Given the description of an element on the screen output the (x, y) to click on. 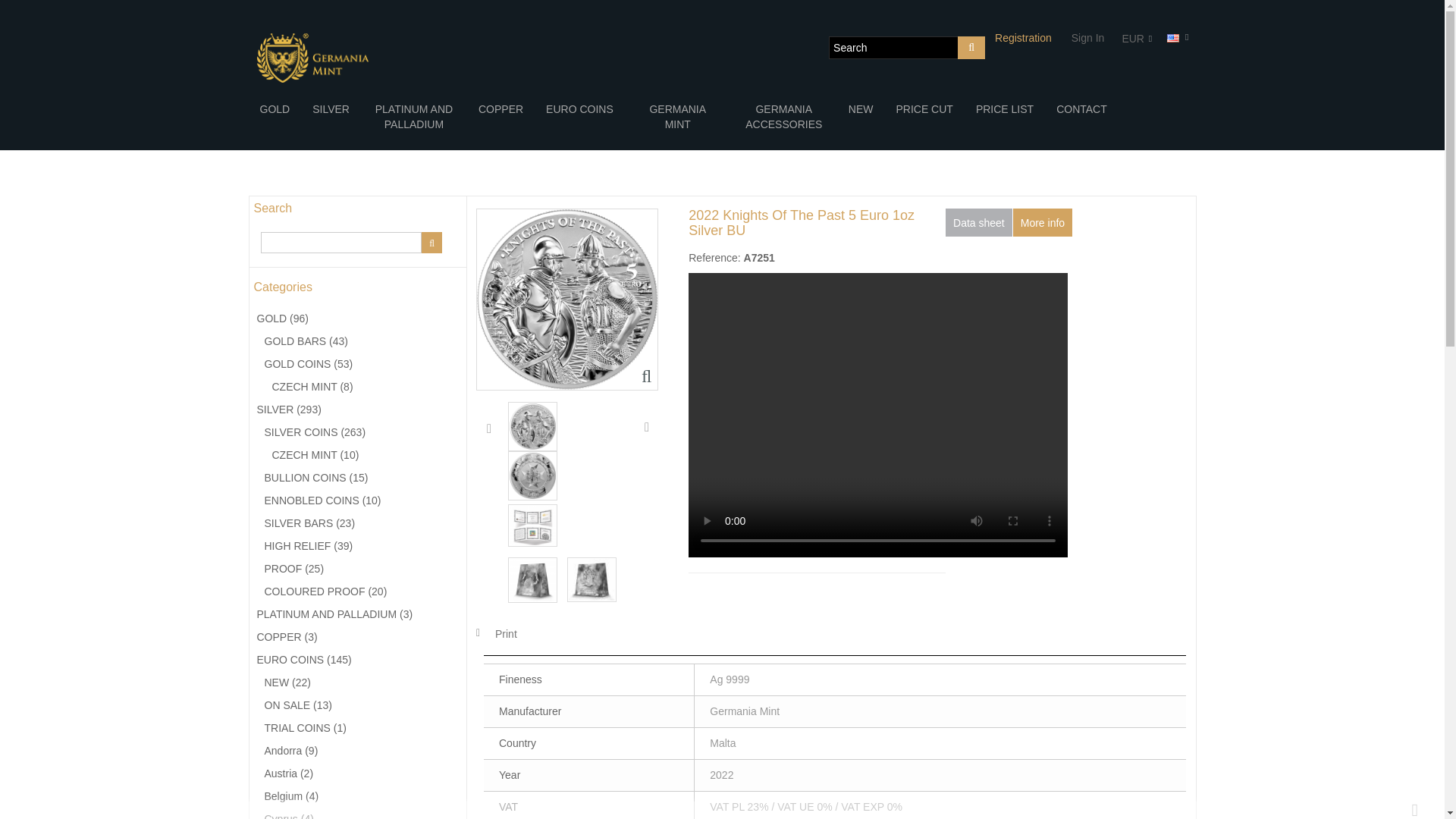
Registration (1023, 37)
EURO COINS (579, 109)
PLATINUM AND PALLADIUM (414, 116)
Login to your customer account (1087, 37)
SILVER (331, 109)
SILVER (331, 109)
Sign In (1087, 37)
COPPER (500, 109)
Germania Mint Invest (312, 57)
GOLD (274, 109)
